Given the description of an element on the screen output the (x, y) to click on. 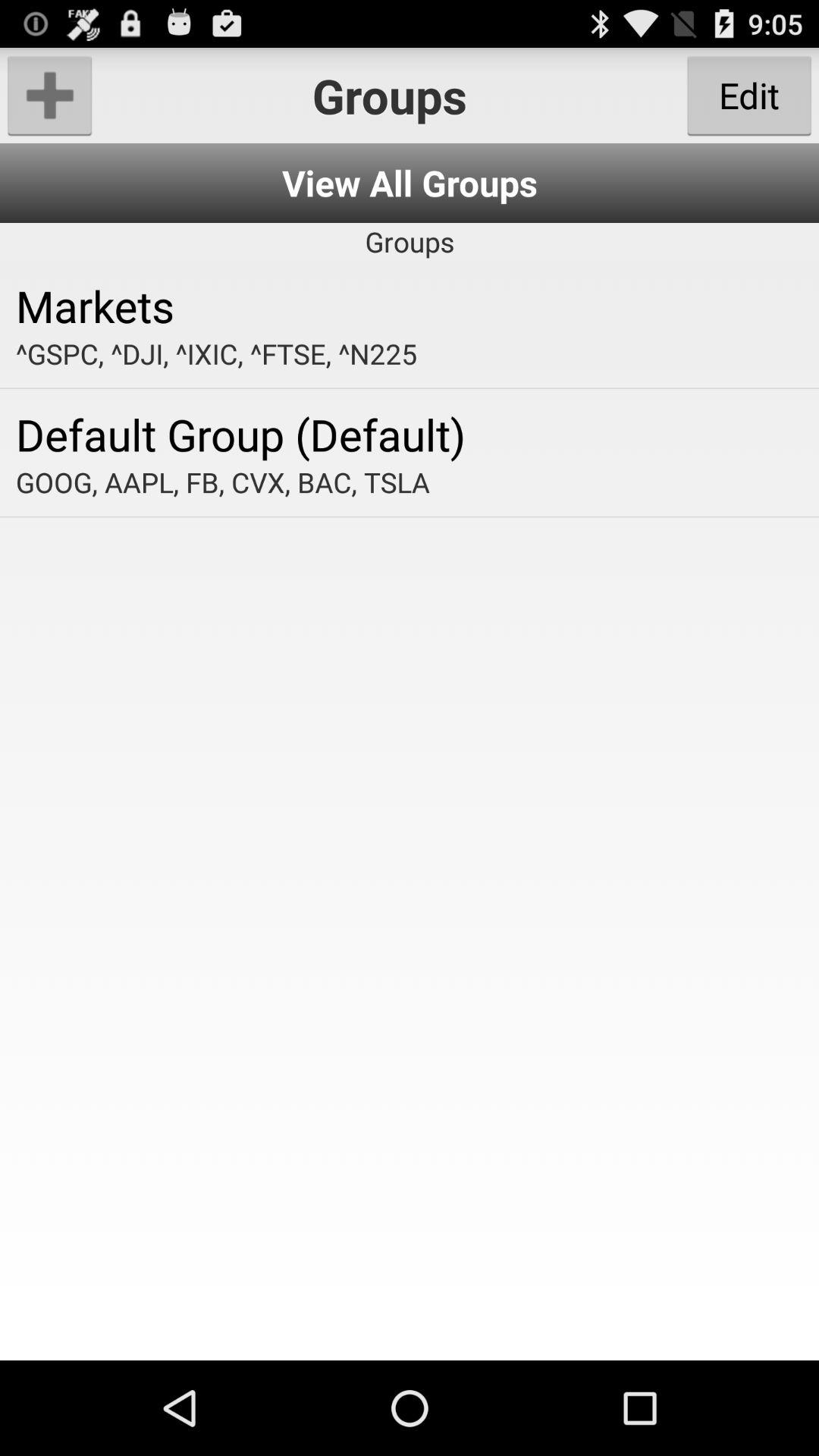
jump to the view all groups item (409, 182)
